Given the description of an element on the screen output the (x, y) to click on. 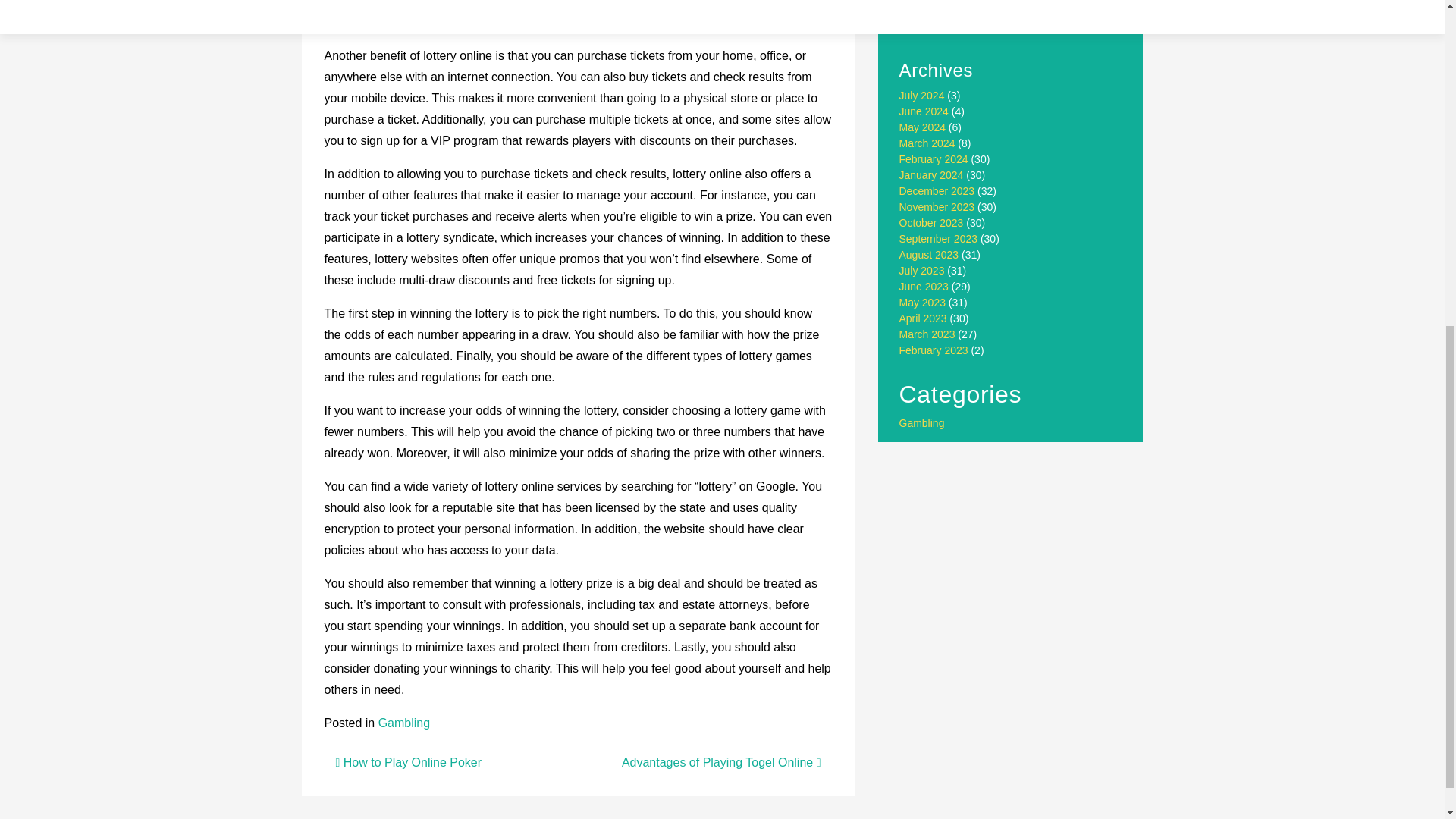
Gambling (403, 722)
March 2023 (927, 334)
July 2023 (921, 270)
April 2023 (923, 318)
Gambling (921, 422)
July 2024 (921, 95)
March 2024 (927, 143)
January 2024 (931, 174)
February 2023 (933, 349)
December 2023 (937, 191)
May 2024 (921, 127)
May 2023 (921, 302)
August 2023 (929, 254)
